Given the description of an element on the screen output the (x, y) to click on. 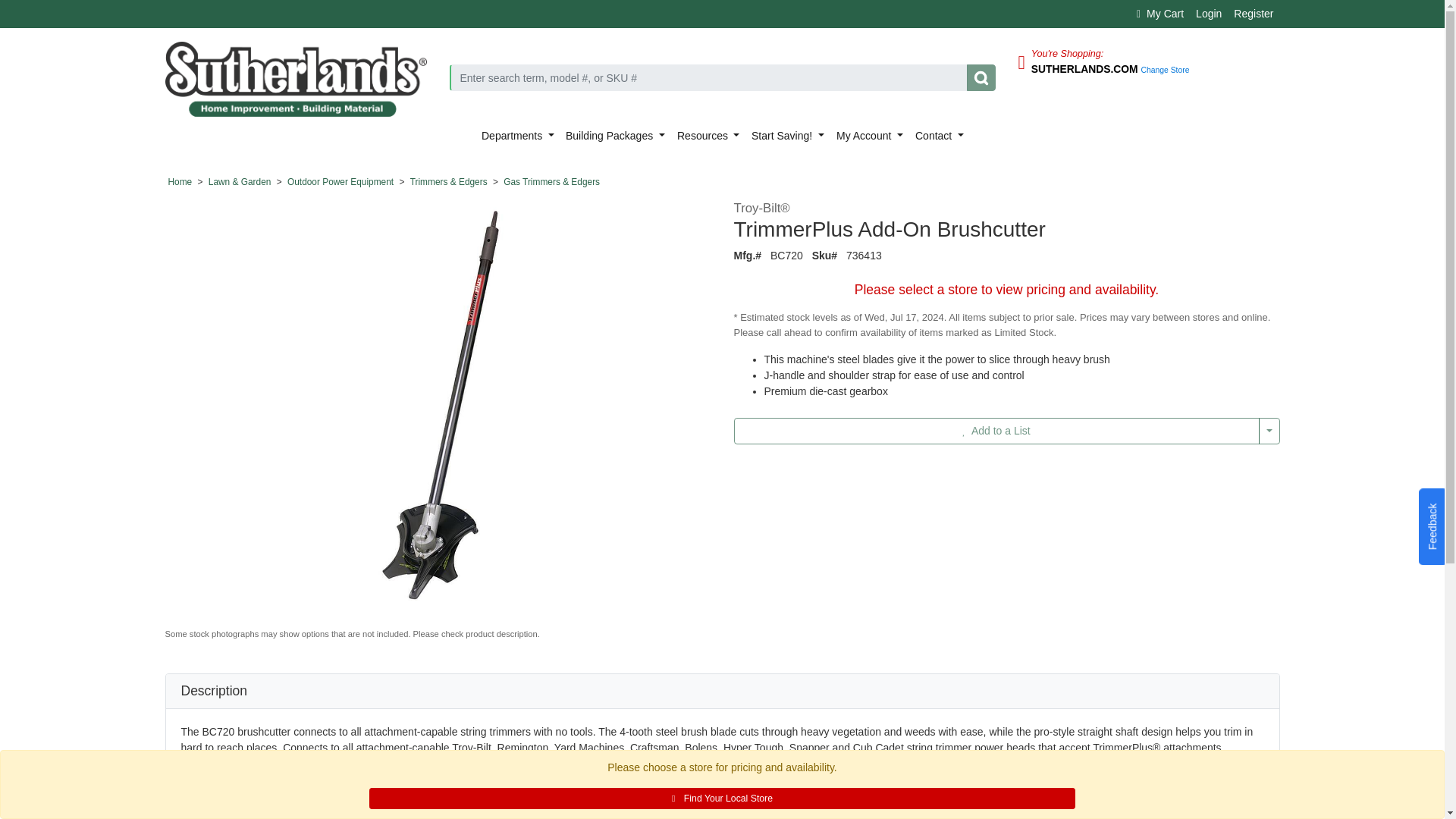
Submit (980, 77)
